Given the description of an element on the screen output the (x, y) to click on. 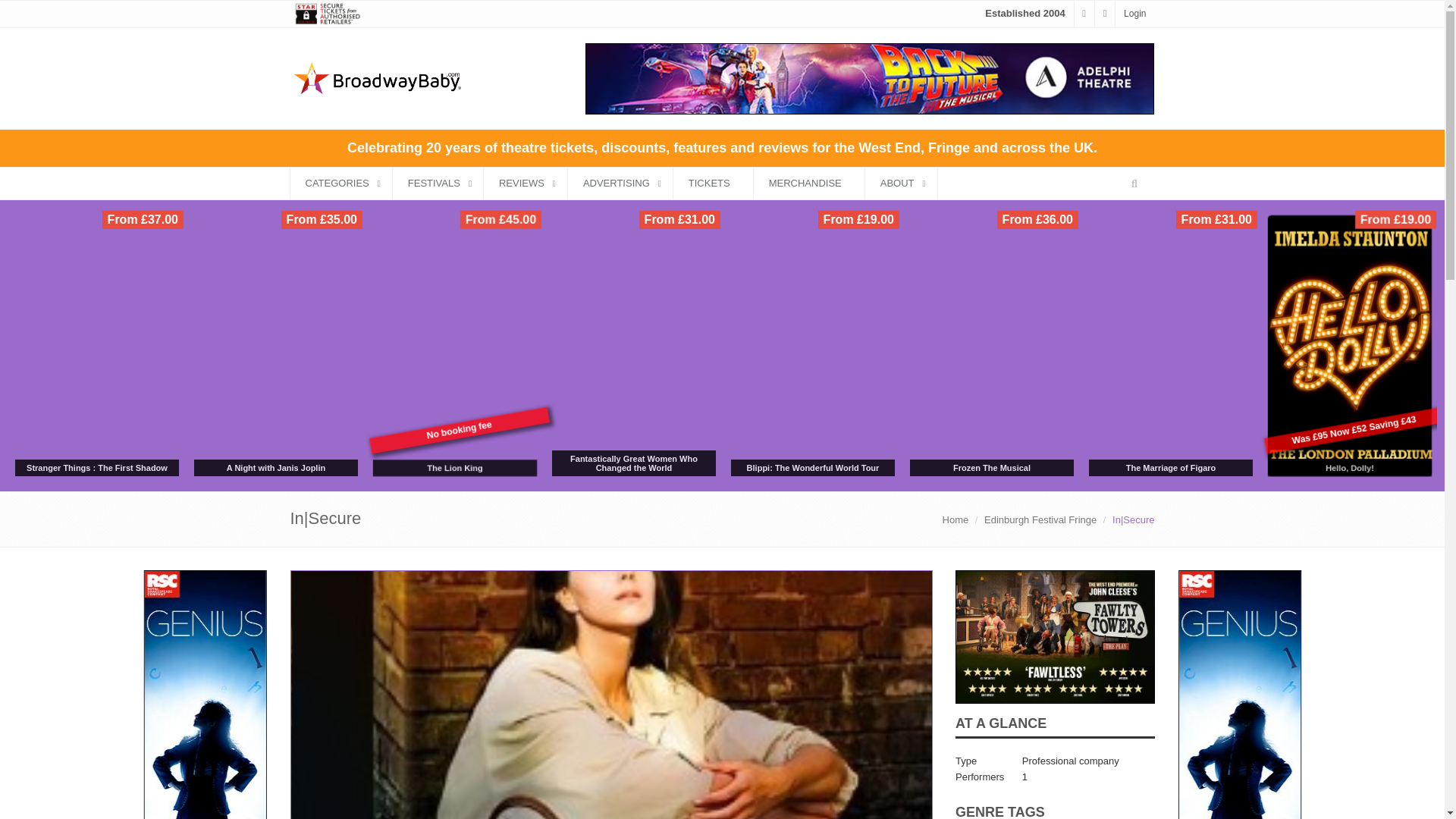
FESTIVALS (438, 183)
CATEGORIES (340, 183)
Login (1134, 13)
